Given the description of an element on the screen output the (x, y) to click on. 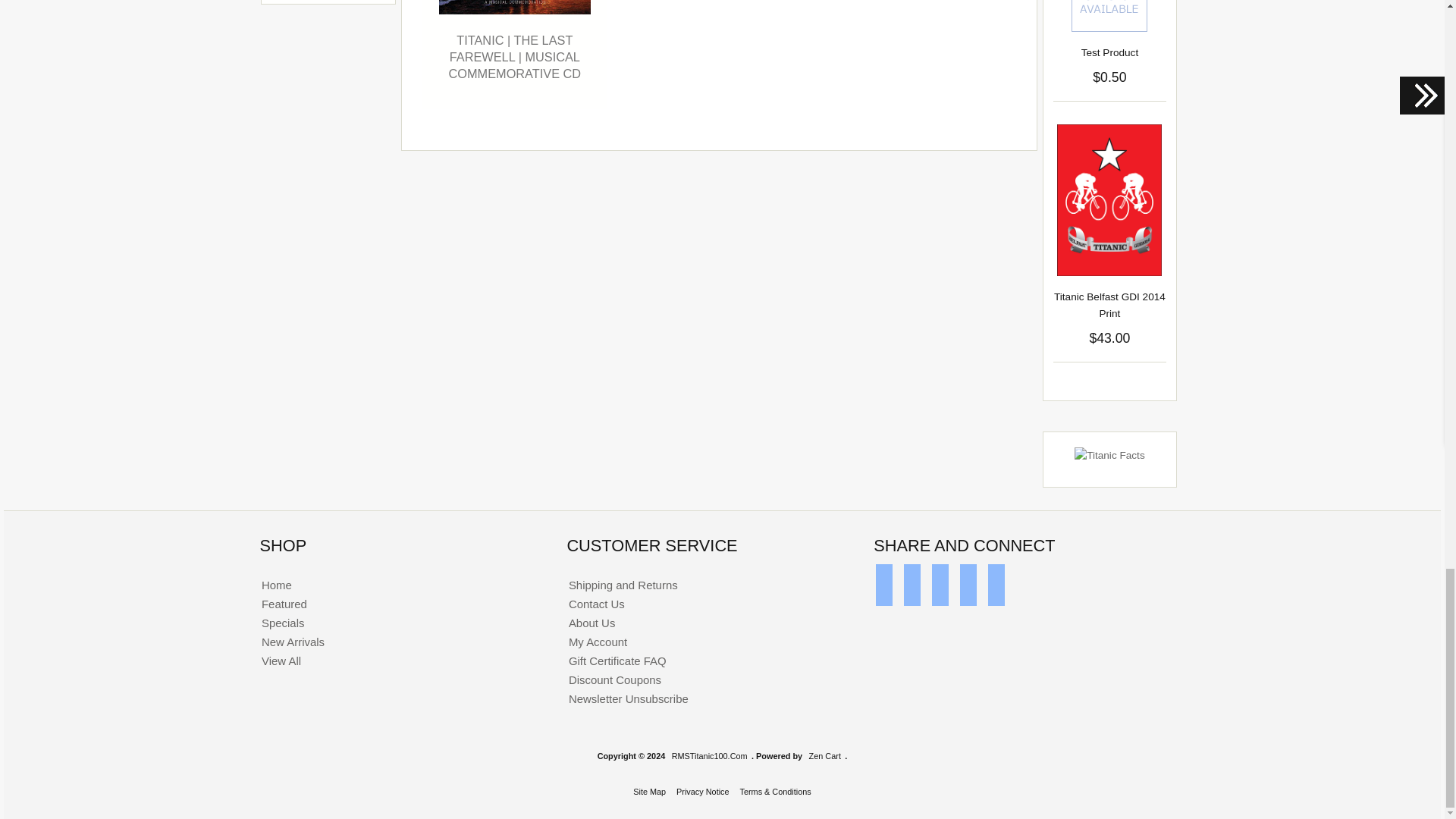
 Test Product  (1109, 15)
 Titanic Facts  (1109, 455)
